Given the description of an element on the screen output the (x, y) to click on. 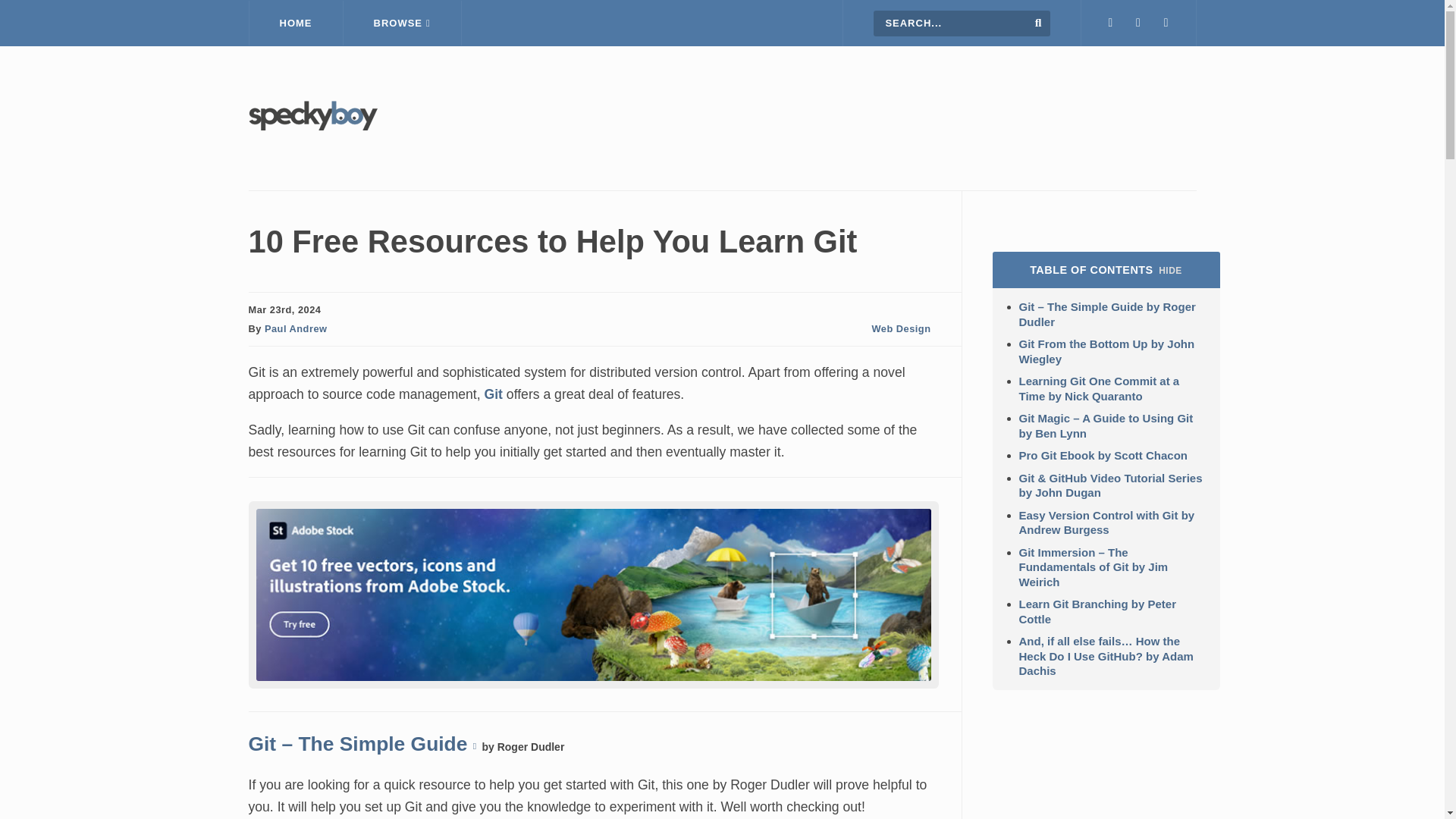
OUR TWITTER PAGE (1110, 23)
BROWSE (401, 22)
Posts by Paul Andrew (295, 328)
Search (1038, 22)
OUR FACEBOOK PAGE (1138, 23)
RSS FEED (1166, 23)
Download 10 free design assets from Adobe Stock (593, 676)
Speckyboy Design Magazine (312, 125)
HOME (295, 22)
